Given the description of an element on the screen output the (x, y) to click on. 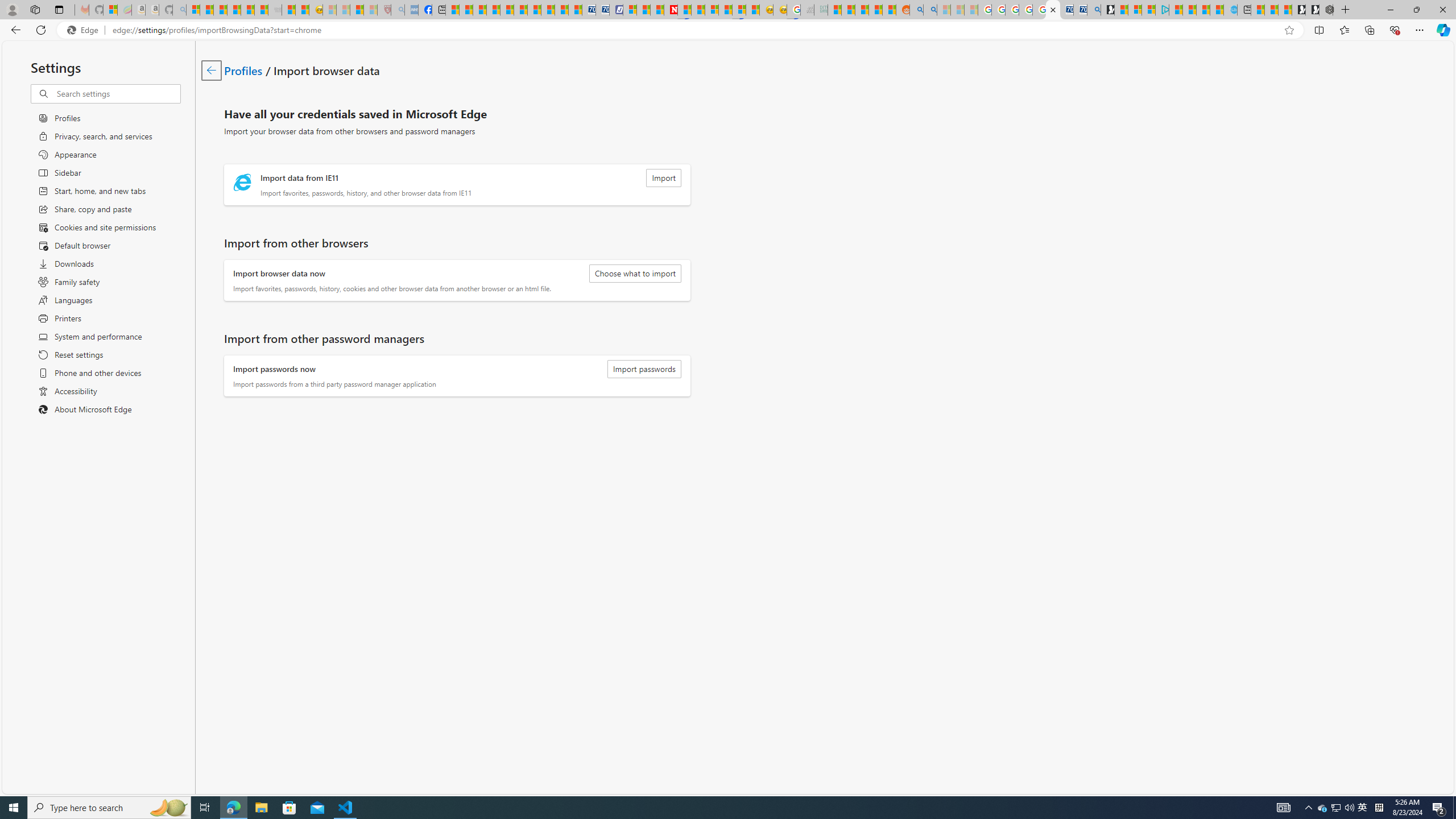
Choose what to import (634, 273)
Import passwords (644, 369)
